Given the description of an element on the screen output the (x, y) to click on. 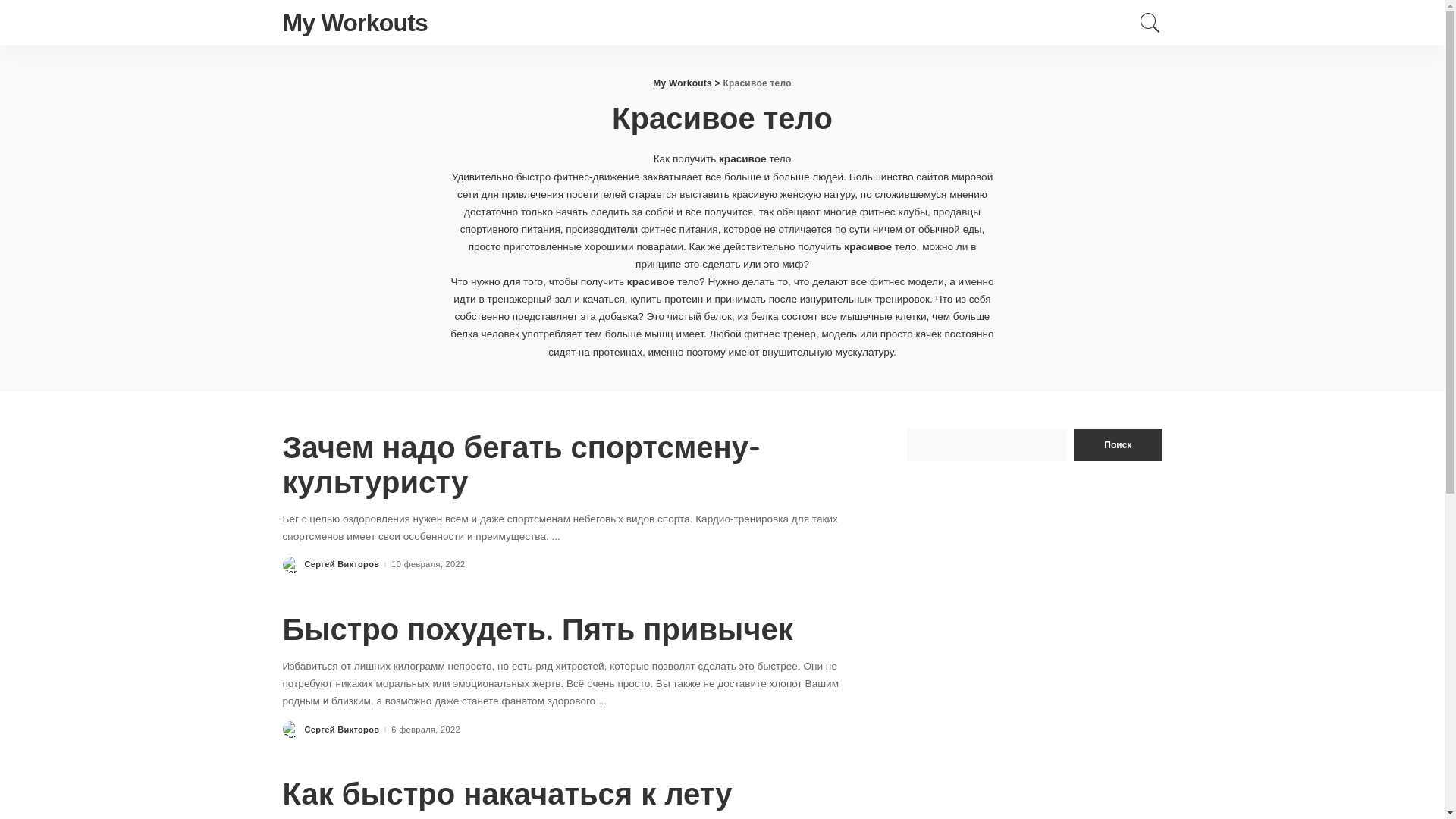
My Workouts Element type: text (354, 22)
Search Element type: hover (1149, 22)
My Workouts Element type: text (682, 83)
